Given the description of an element on the screen output the (x, y) to click on. 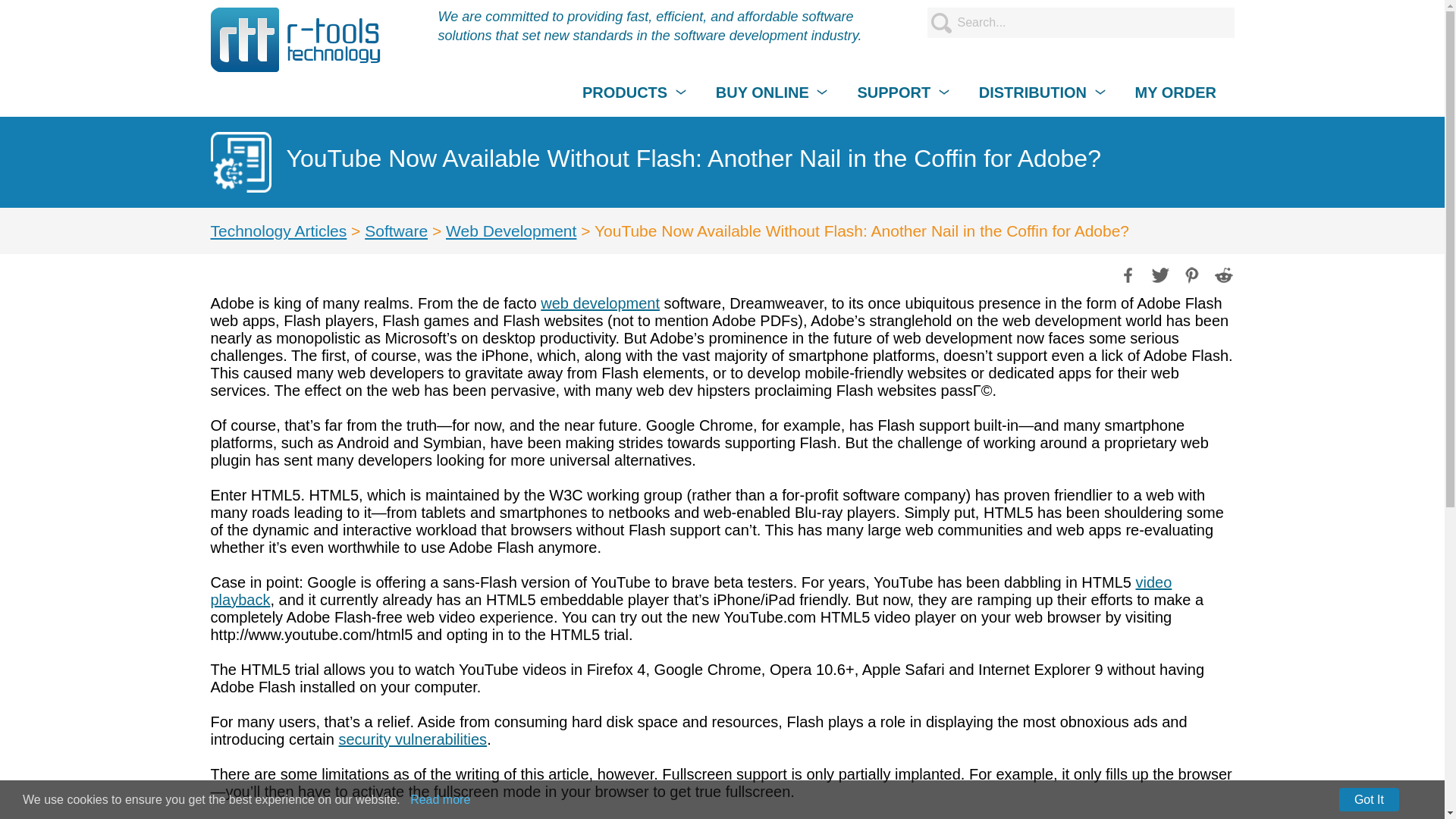
Software (396, 230)
Search... (1079, 22)
Technology Articles (279, 230)
R-Tools Technology Inc. (296, 39)
Share on Facebook (1126, 273)
Share on Pinterest (1189, 273)
Share on Twitter (1158, 273)
video playback (691, 591)
MY ORDER (1175, 92)
security vulnerabilities (411, 739)
Share on Reddit (1221, 273)
Web Development (510, 230)
web development (599, 303)
Search... (1079, 22)
